Given the description of an element on the screen output the (x, y) to click on. 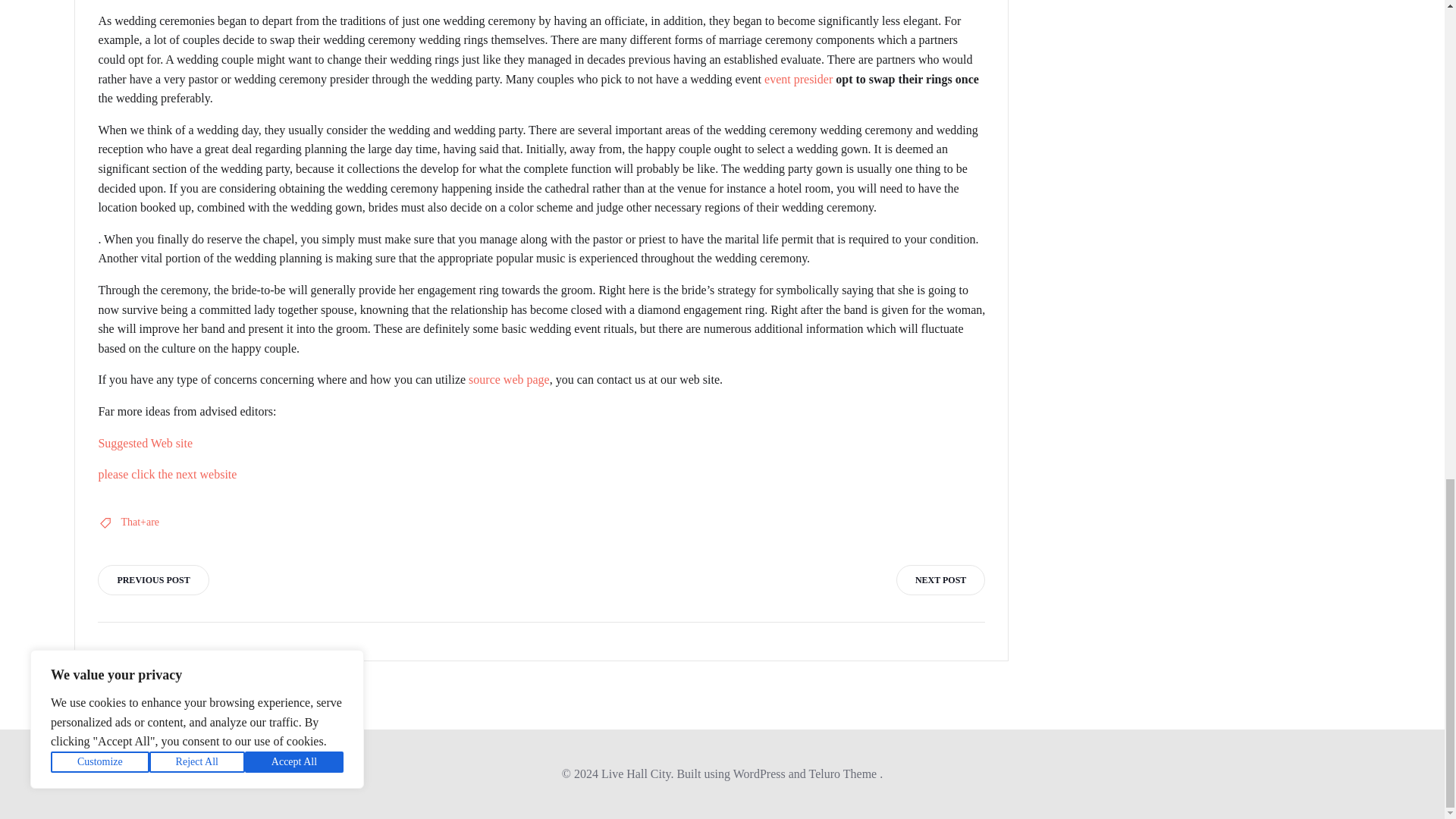
NEXT POST (940, 580)
PREVIOUS POST (152, 580)
Suggested Web site (144, 442)
please click the next website (166, 473)
source web page (509, 379)
event presider (798, 78)
